Given the description of an element on the screen output the (x, y) to click on. 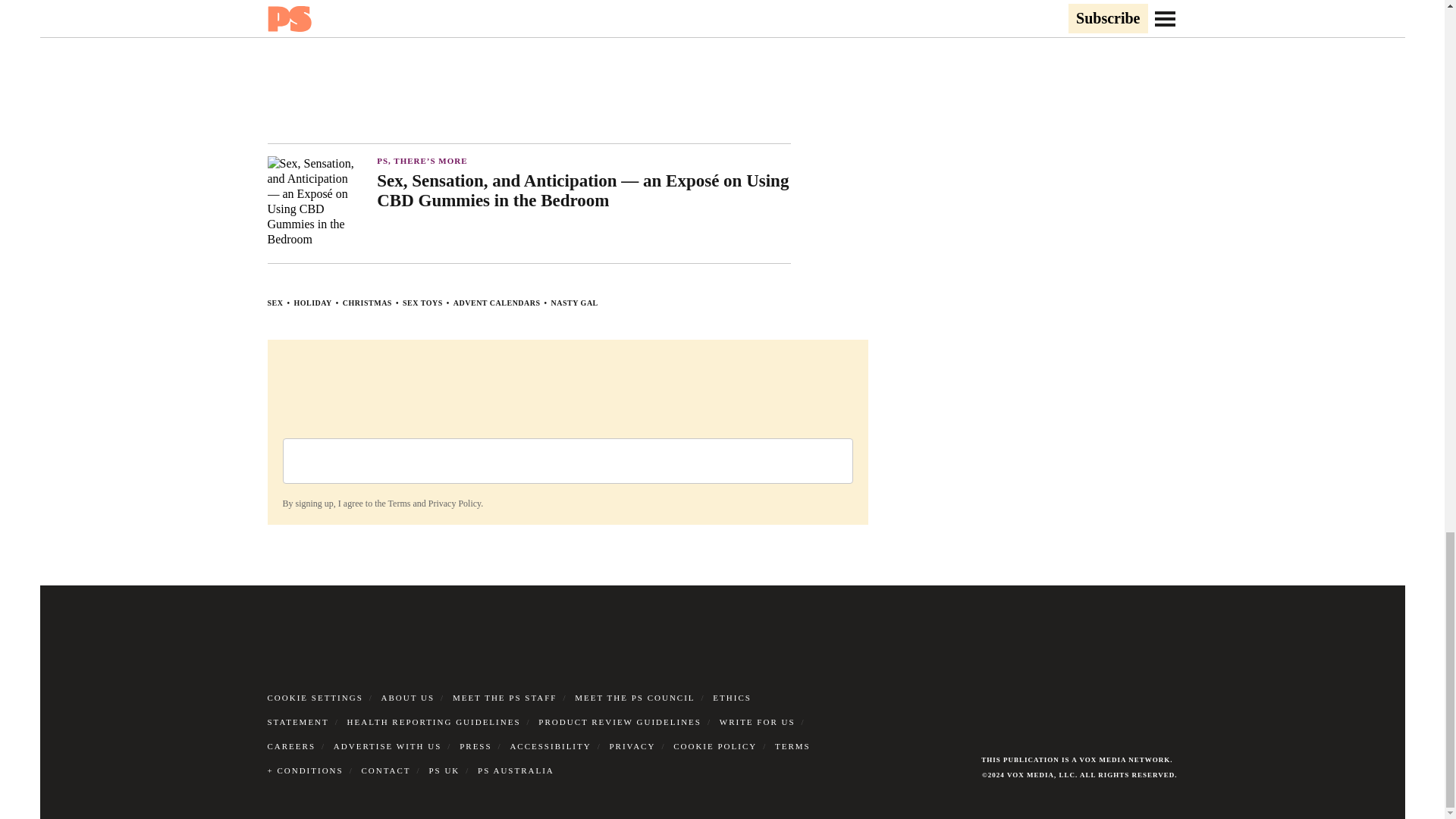
SEX (274, 302)
ADVENT CALENDARS (496, 302)
HOLIDAY (312, 302)
CHRISTMAS (366, 302)
MEET THE PS STAFF (504, 697)
SEX TOYS (422, 302)
ABOUT US (408, 697)
Terms (399, 502)
NASTY GAL (574, 302)
Privacy Policy. (455, 502)
